Given the description of an element on the screen output the (x, y) to click on. 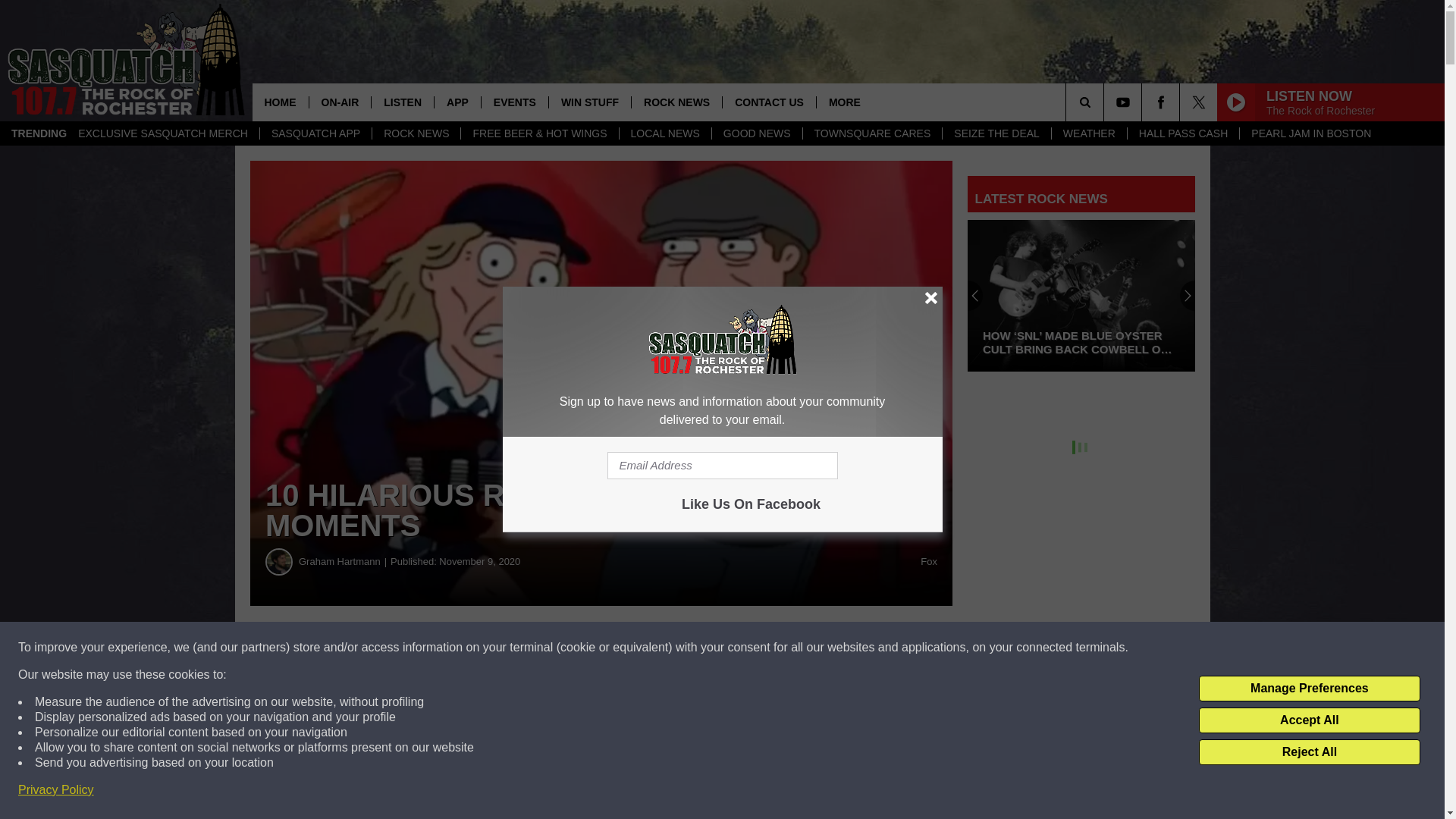
PEARL JAM IN BOSTON (1310, 133)
Share on Facebook (460, 647)
Accept All (1309, 720)
SASQUATCH APP (315, 133)
SEARCH (1106, 102)
SEARCH (1106, 102)
Manage Preferences (1309, 688)
WEATHER (1088, 133)
SEIZE THE DEAL (996, 133)
APP (456, 102)
LISTEN (402, 102)
Reject All (1309, 751)
ON-AIR (339, 102)
ROCK NEWS (415, 133)
WIN STUFF (589, 102)
